Given the description of an element on the screen output the (x, y) to click on. 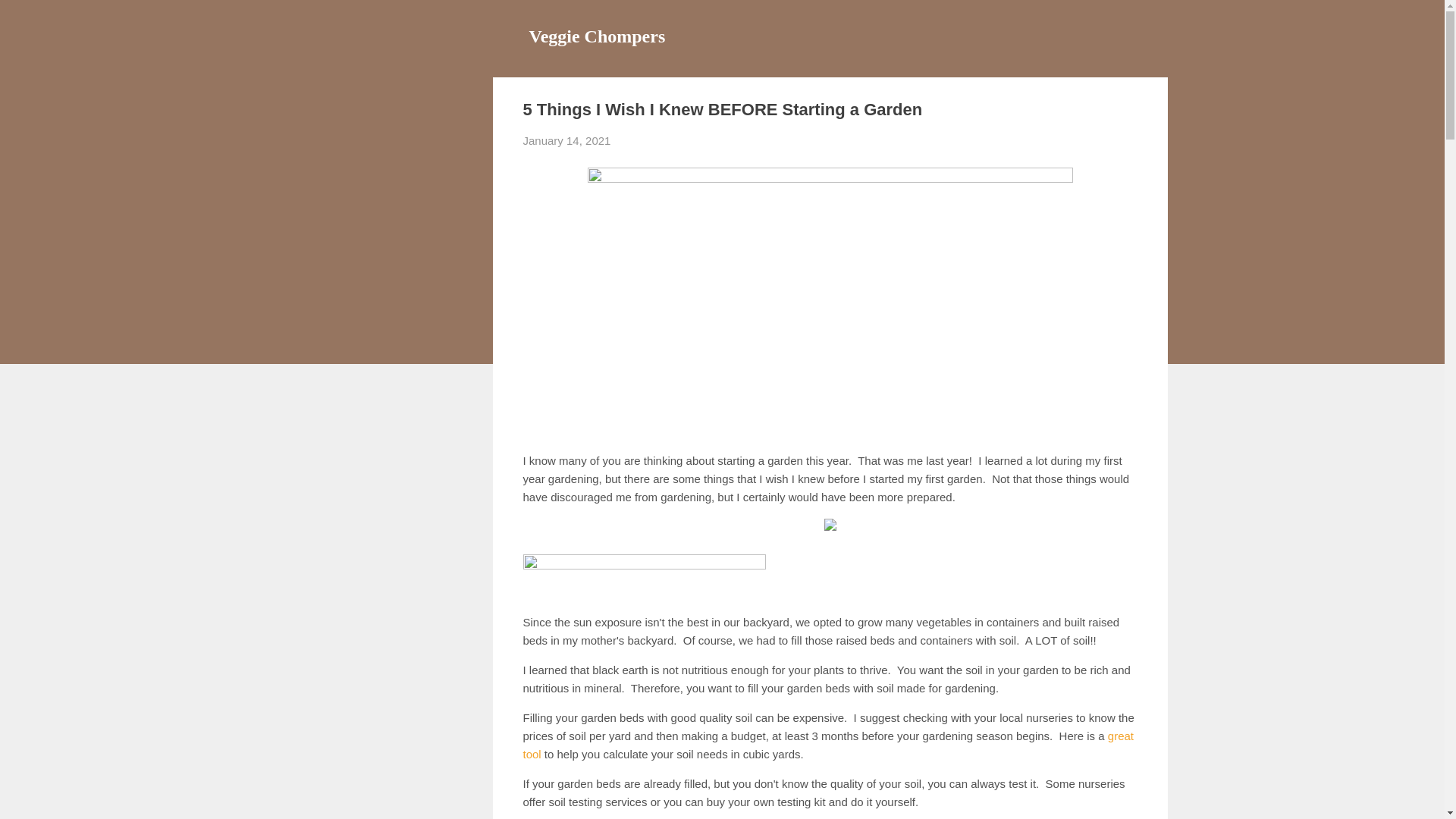
Search (29, 18)
January 14, 2021 (566, 140)
Veggie Chompers (597, 35)
permanent link (566, 140)
great tool (828, 744)
